Given the description of an element on the screen output the (x, y) to click on. 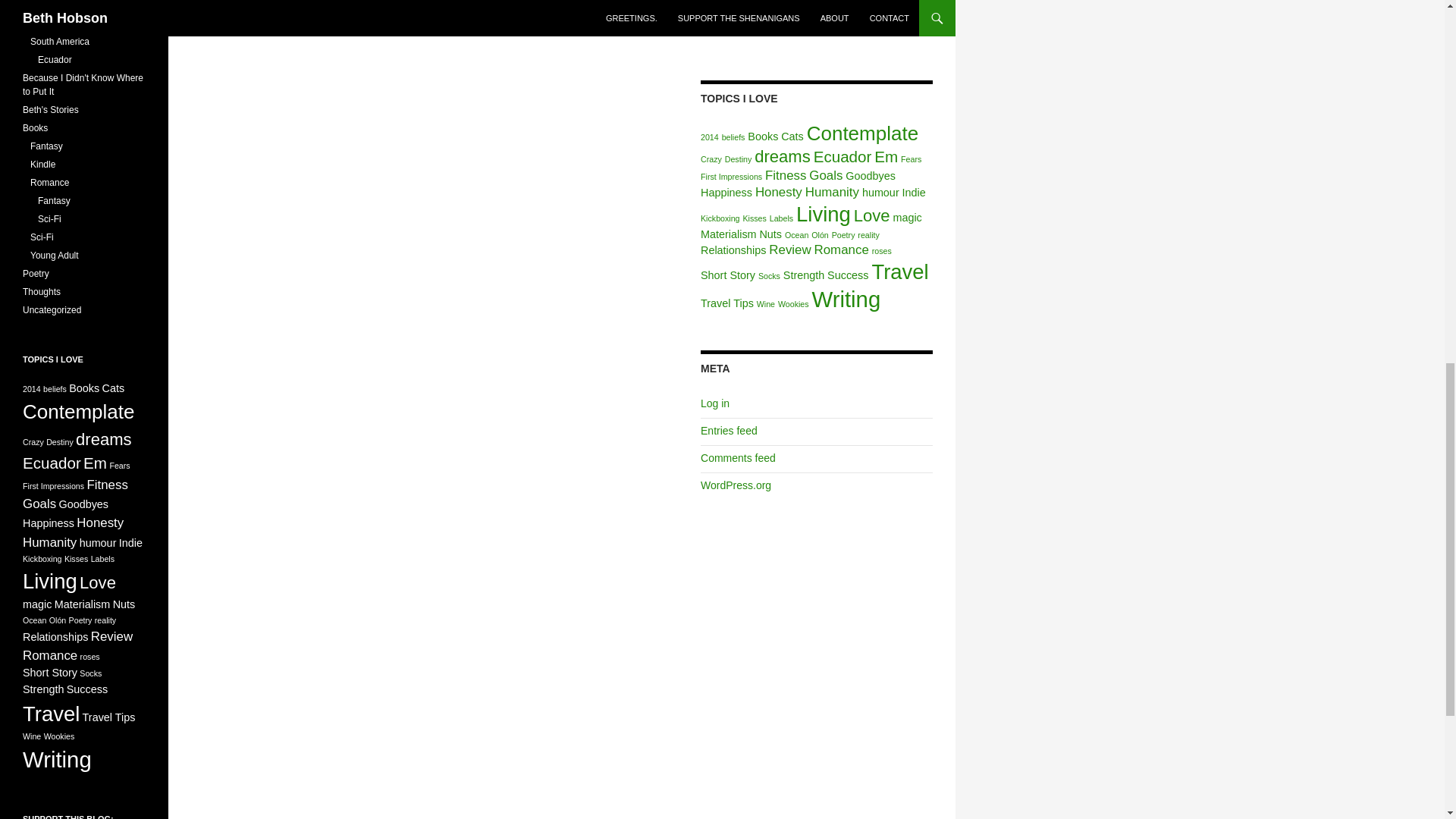
REALITY (539, 8)
HUMANITY (430, 8)
BELIEFS (284, 8)
LIVING (486, 8)
CONTEMPLATE (354, 8)
